Given the description of an element on the screen output the (x, y) to click on. 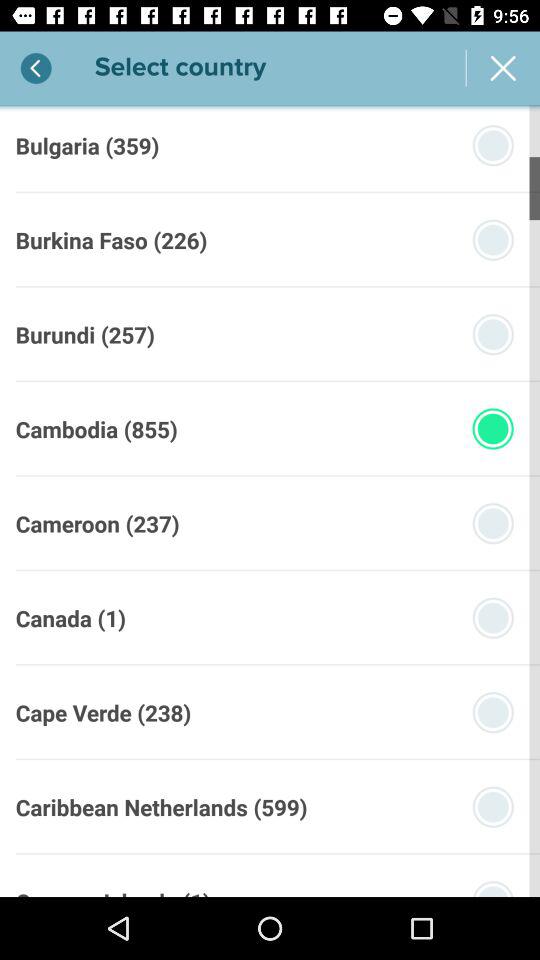
select burkina faso (226) (111, 240)
